Given the description of an element on the screen output the (x, y) to click on. 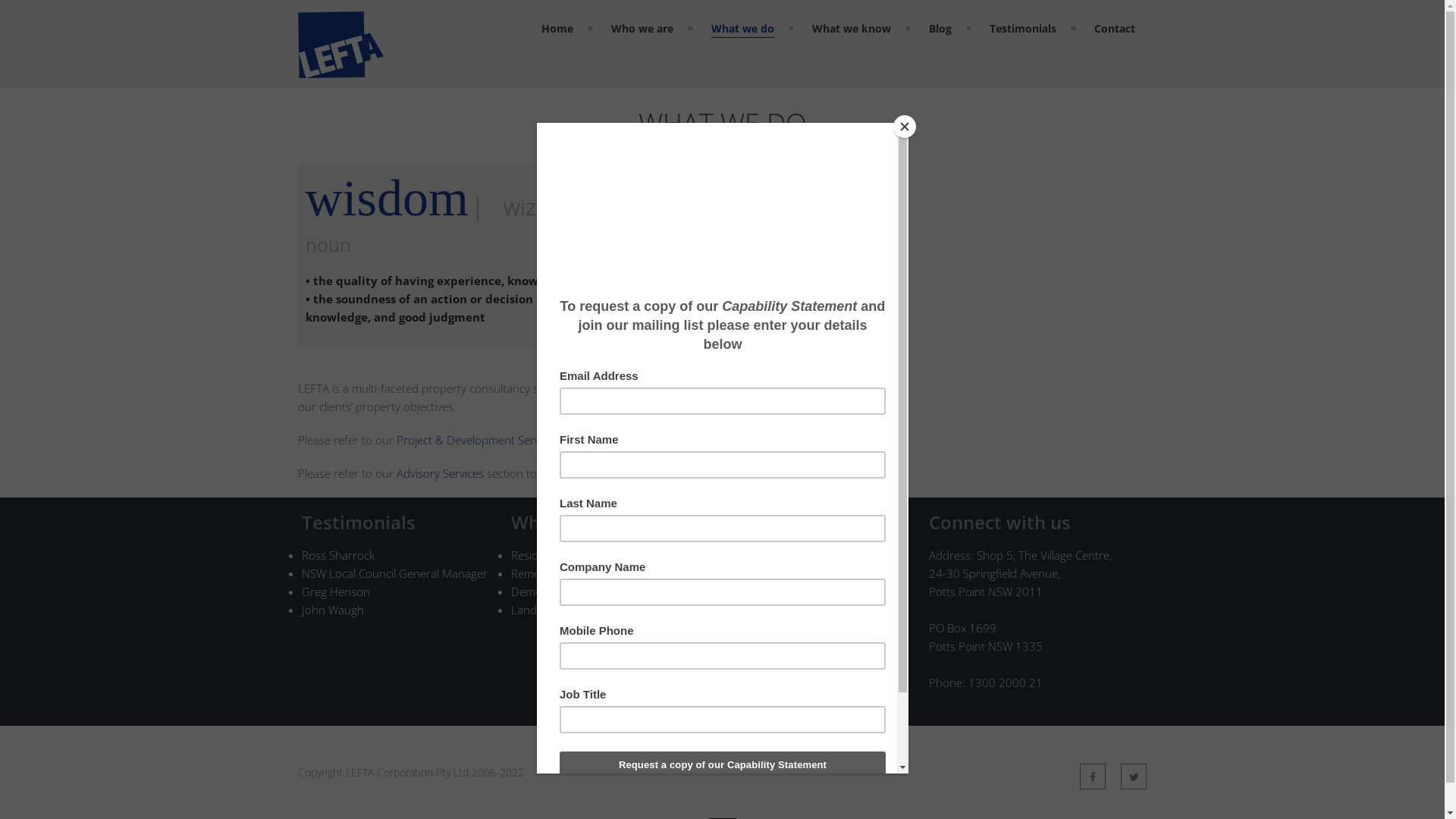
What we do Element type: text (749, 591)
Home Element type: text (557, 27)
Remedial Works Element type: text (551, 572)
Who we are Element type: text (749, 572)
Contact Element type: text (1114, 27)
Greg Henson Element type: text (335, 591)
Ross Sharrock Element type: text (337, 554)
NSW Local Council General Manager Element type: text (394, 572)
Demolition & Remediation Element type: text (577, 591)
Contact Element type: text (739, 663)
Who we are Element type: text (641, 27)
John Waugh Element type: text (332, 609)
Home Element type: text (734, 554)
Blog Element type: text (730, 627)
Advisory Services Element type: text (439, 472)
What we know Element type: text (756, 609)
What we do Element type: text (742, 27)
What we know Element type: text (851, 27)
facebook Element type: hover (1092, 776)
LEFTA Corporation Element type: hover (339, 68)
twitter Element type: hover (1133, 776)
Testimonials Element type: text (1022, 27)
Testimonials Element type: text (750, 645)
Blog Element type: text (940, 27)
Land Subdivision Element type: text (554, 609)
Project & Development Services Element type: text (476, 439)
Residential Element type: text (538, 554)
